Given the description of an element on the screen output the (x, y) to click on. 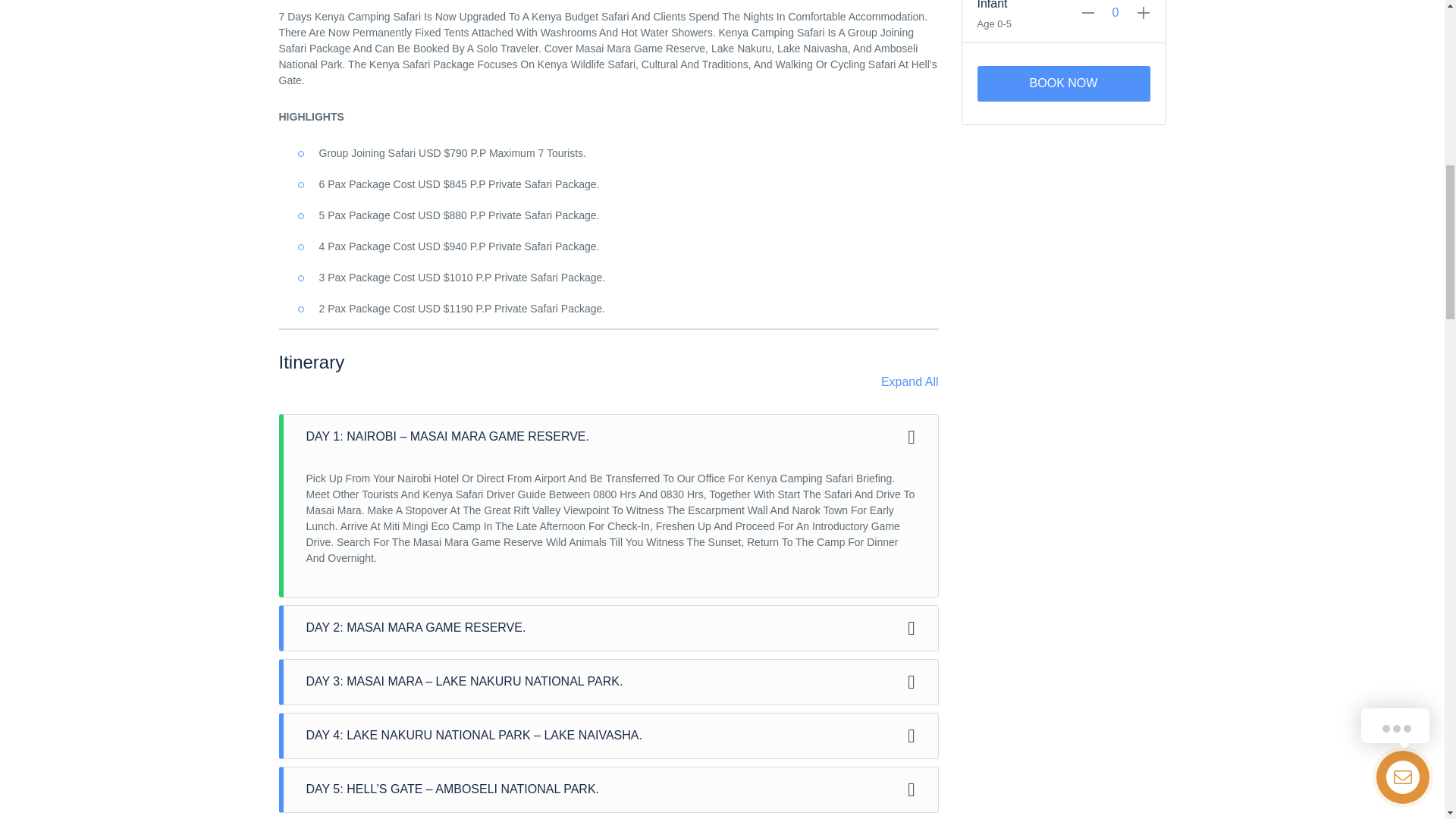
0 (1115, 12)
BOOK NOW (1063, 83)
